Given the description of an element on the screen output the (x, y) to click on. 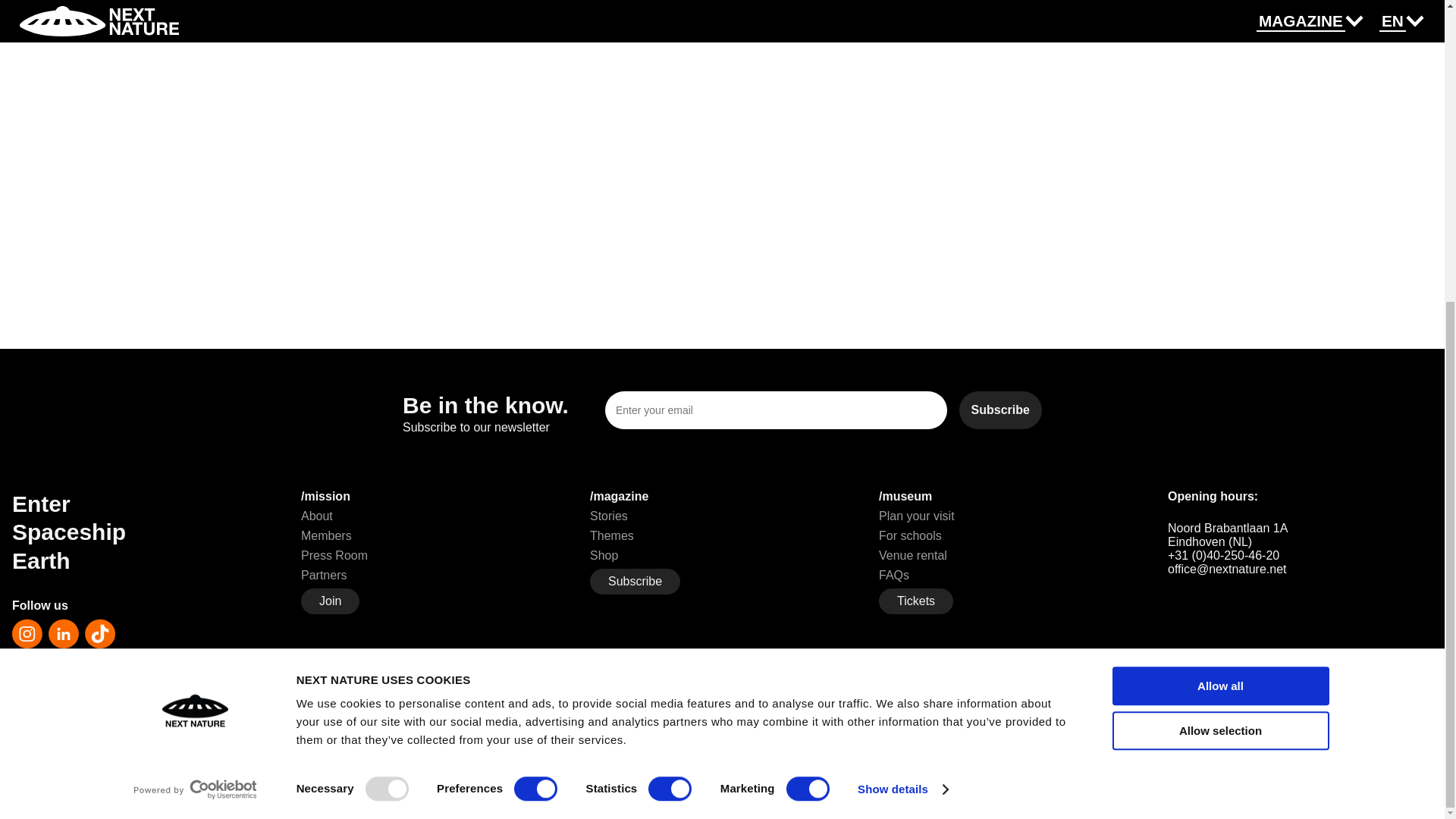
Allow selection (1219, 260)
Allow all (1219, 215)
Show details (902, 318)
